Given the description of an element on the screen output the (x, y) to click on. 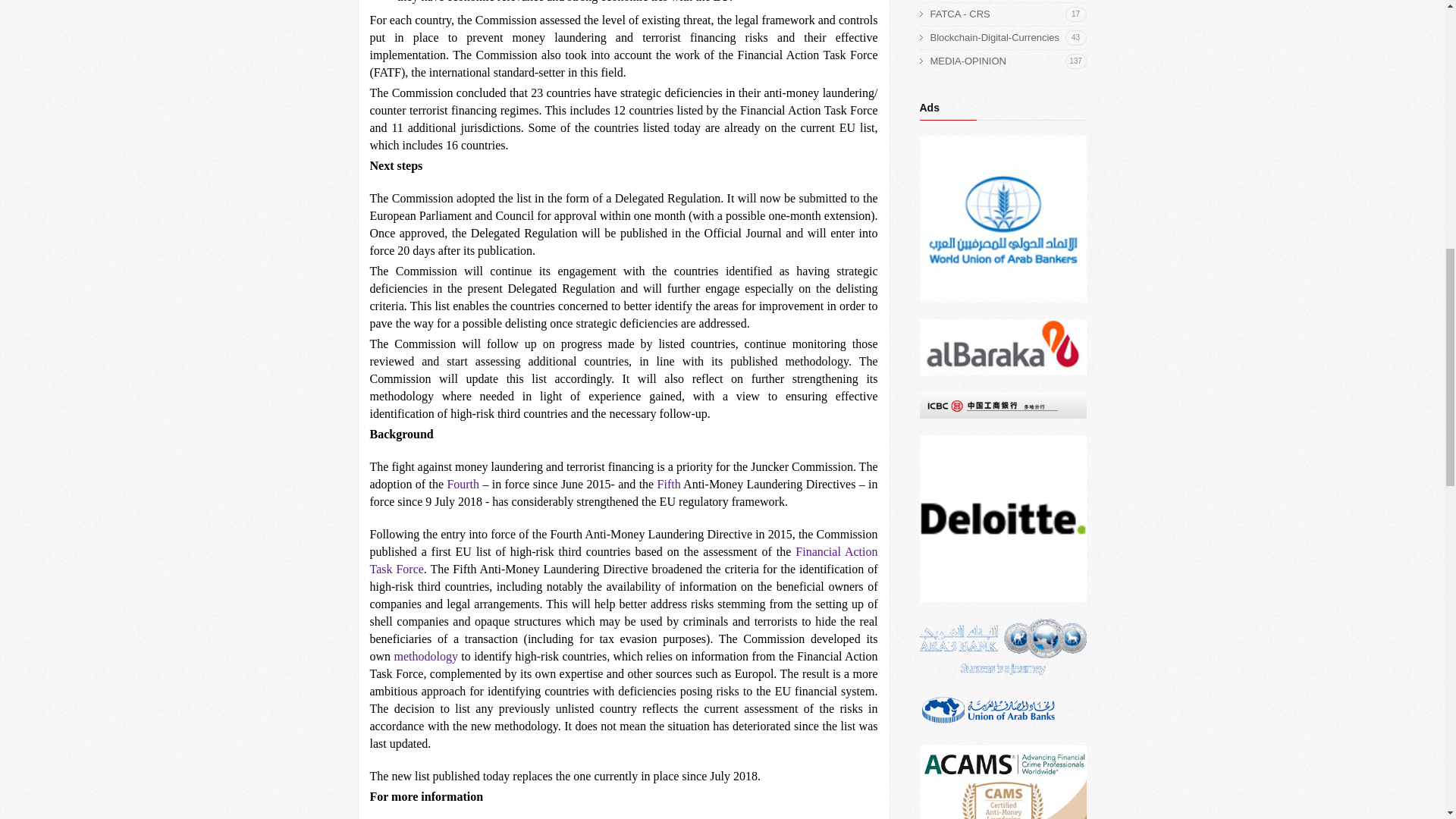
Fifth (1008, 61)
Financial Action Task Force (1008, 13)
Fourth (669, 483)
methodology (623, 560)
